Given the description of an element on the screen output the (x, y) to click on. 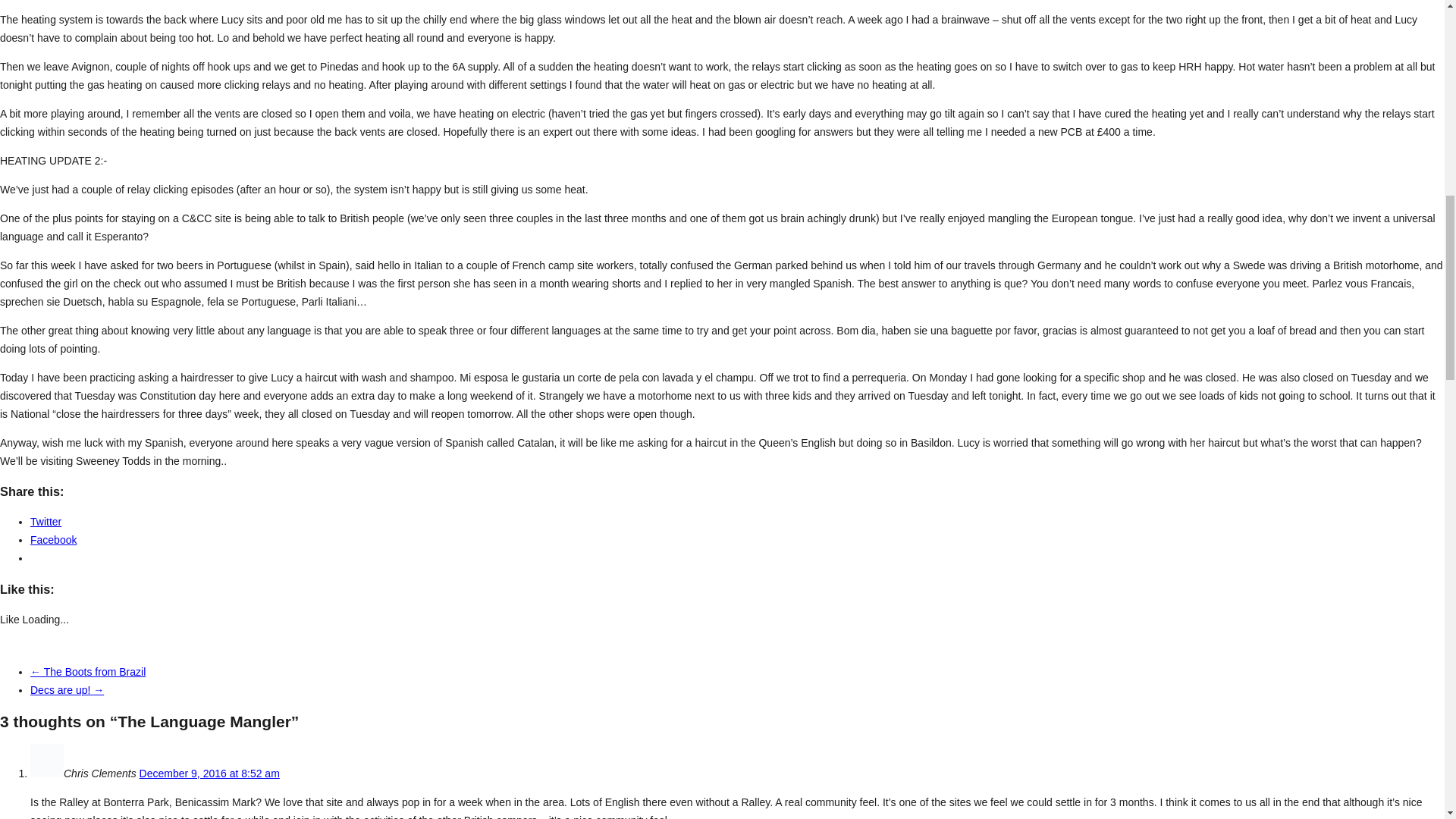
Click to share on Twitter (45, 521)
December 9, 2016 at 8:52 am (209, 773)
Click to share on Facebook (53, 539)
Twitter (45, 521)
Facebook (53, 539)
